Given the description of an element on the screen output the (x, y) to click on. 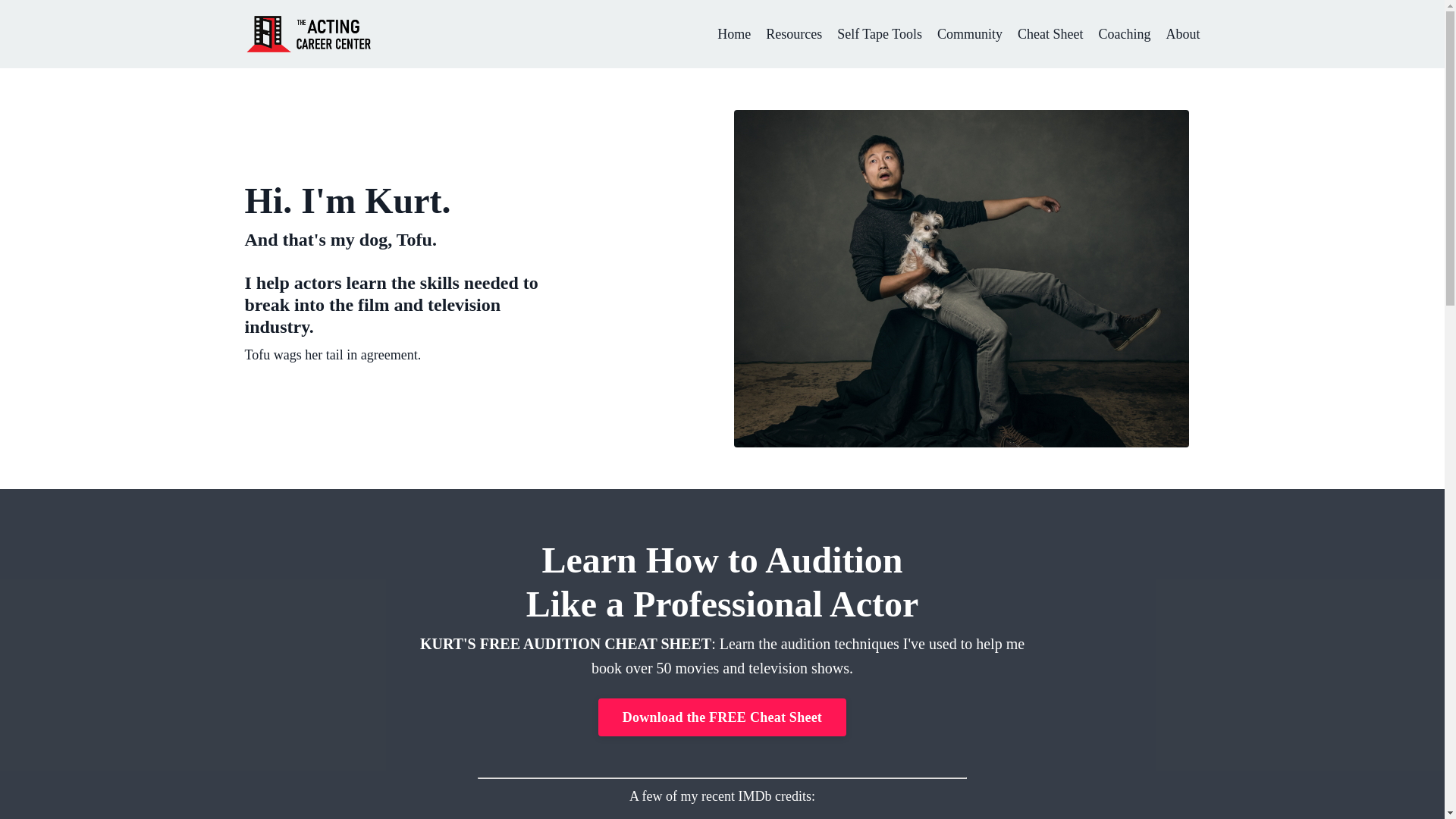
Download the FREE Cheat Sheet (721, 717)
Cheat Sheet (1050, 34)
About (1182, 34)
Self Tape Tools (879, 34)
Coaching (1123, 34)
Community (970, 34)
Resources (793, 34)
Home (734, 34)
